Given the description of an element on the screen output the (x, y) to click on. 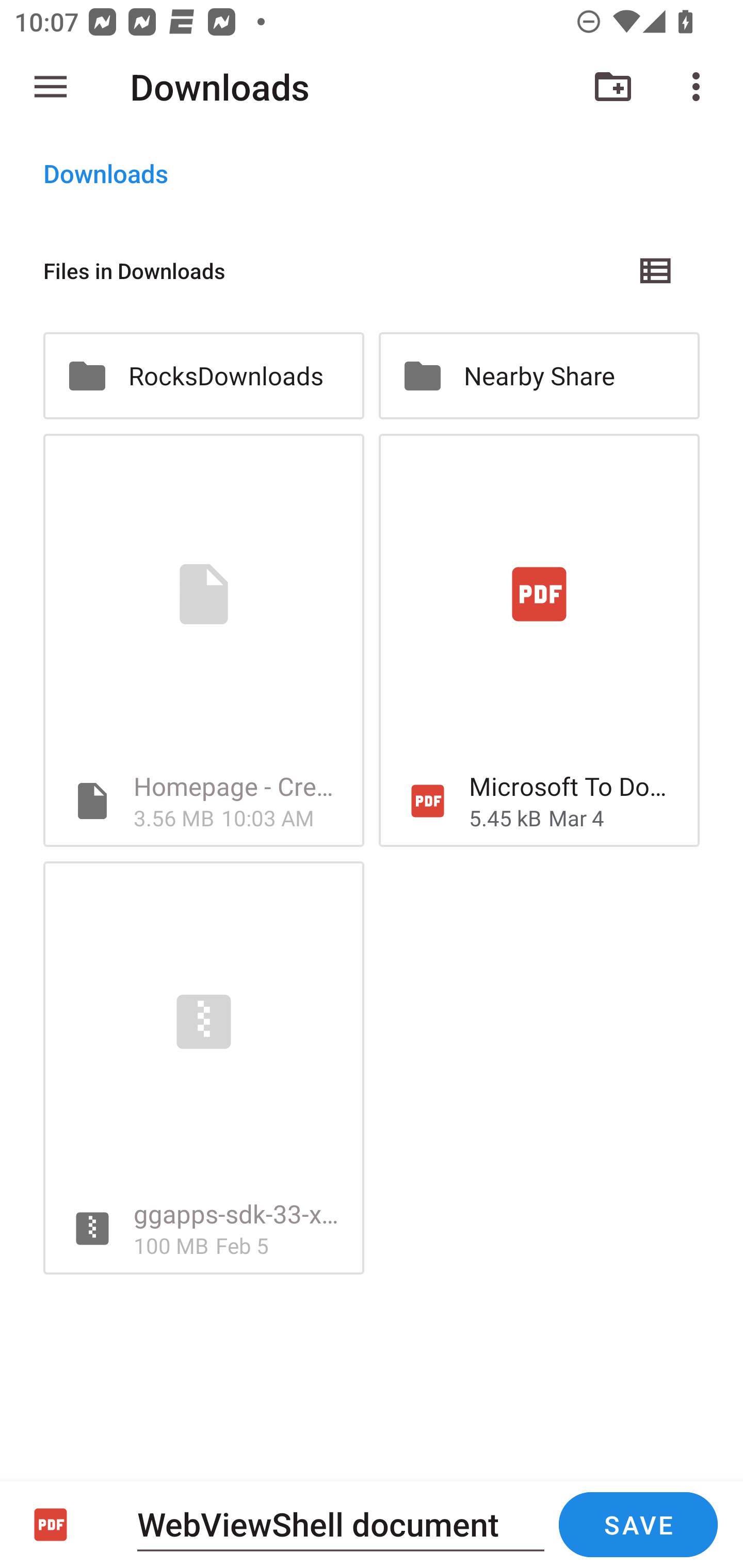
Show roots (50, 86)
New folder (612, 86)
More options (699, 86)
List view (655, 270)
RocksDownloads (203, 375)
Nearby Share (538, 375)
Homepage - Creative Commons 3.56 MB 10:03 AM (203, 640)
Microsoft To DoFlight Booking.pdf 5.45 kB Mar 4 (538, 640)
ggapps-sdk-33-x86_64-20231003.zip 100 MB Feb 5 (203, 1067)
SAVE (637, 1524)
WebViewShell document (340, 1523)
